Given the description of an element on the screen output the (x, y) to click on. 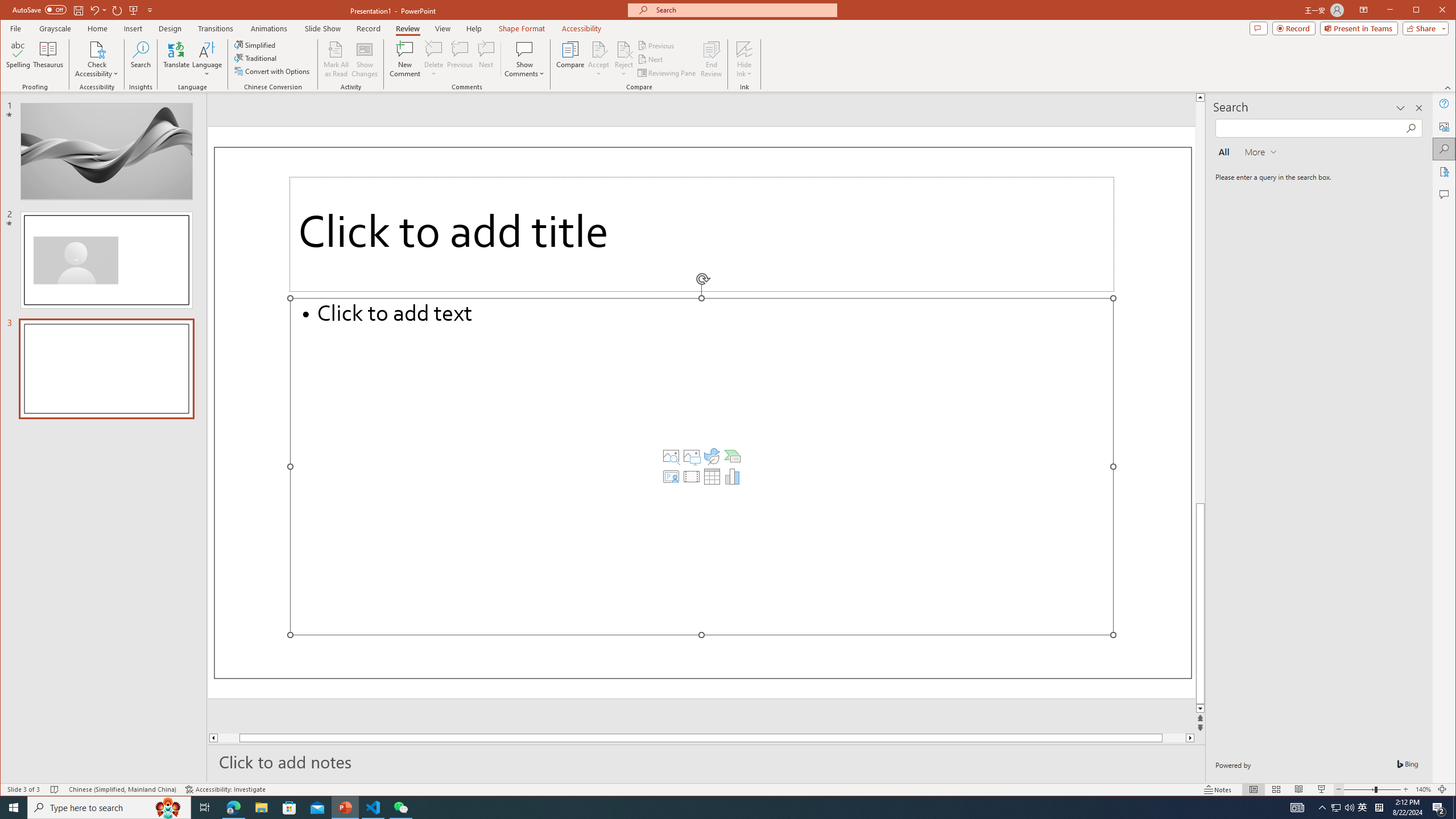
Search (1444, 148)
Insert Cameo (670, 476)
Action Center, 2 new notifications (1439, 807)
Show desktop (1454, 807)
Running applications (707, 807)
Stock Images (670, 456)
Insert an Icon (711, 456)
WeChat - 1 running window (400, 807)
Insert a SmartArt Graphic (732, 456)
